Given the description of an element on the screen output the (x, y) to click on. 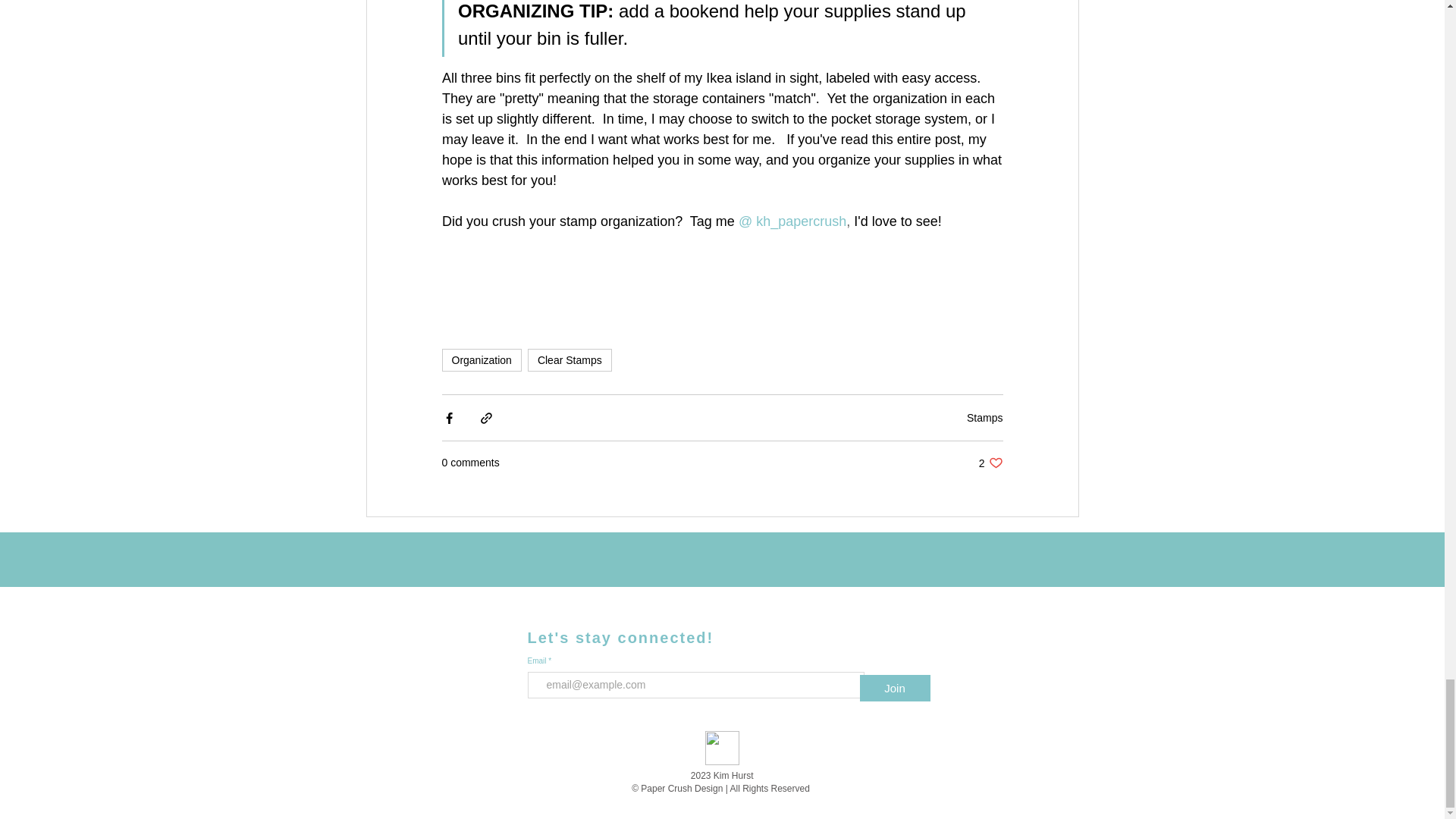
Stamps (984, 417)
Organization (481, 359)
Join (990, 462)
Clear Stamps (895, 687)
